Given the description of an element on the screen output the (x, y) to click on. 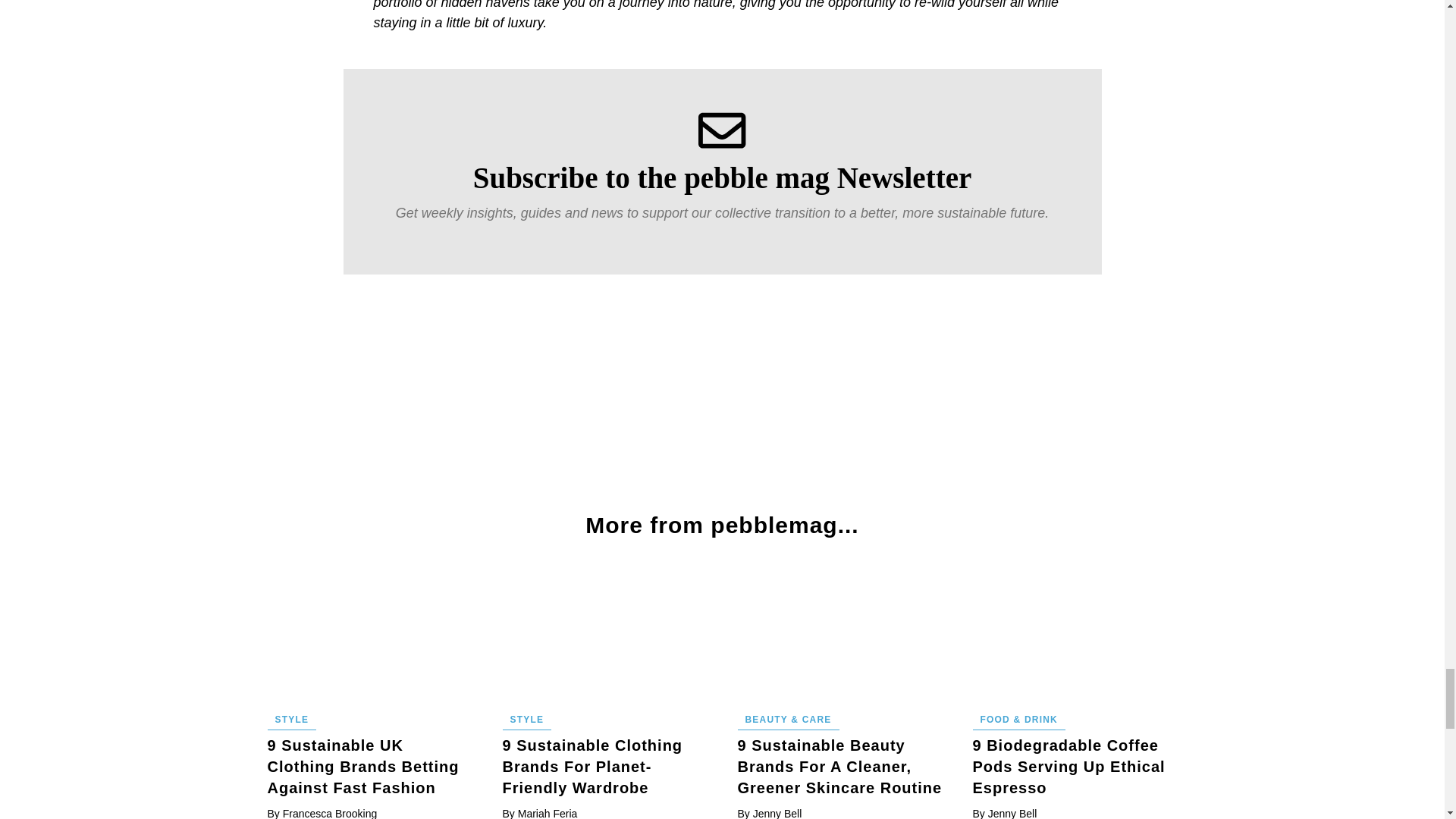
STYLE (290, 720)
